Given the description of an element on the screen output the (x, y) to click on. 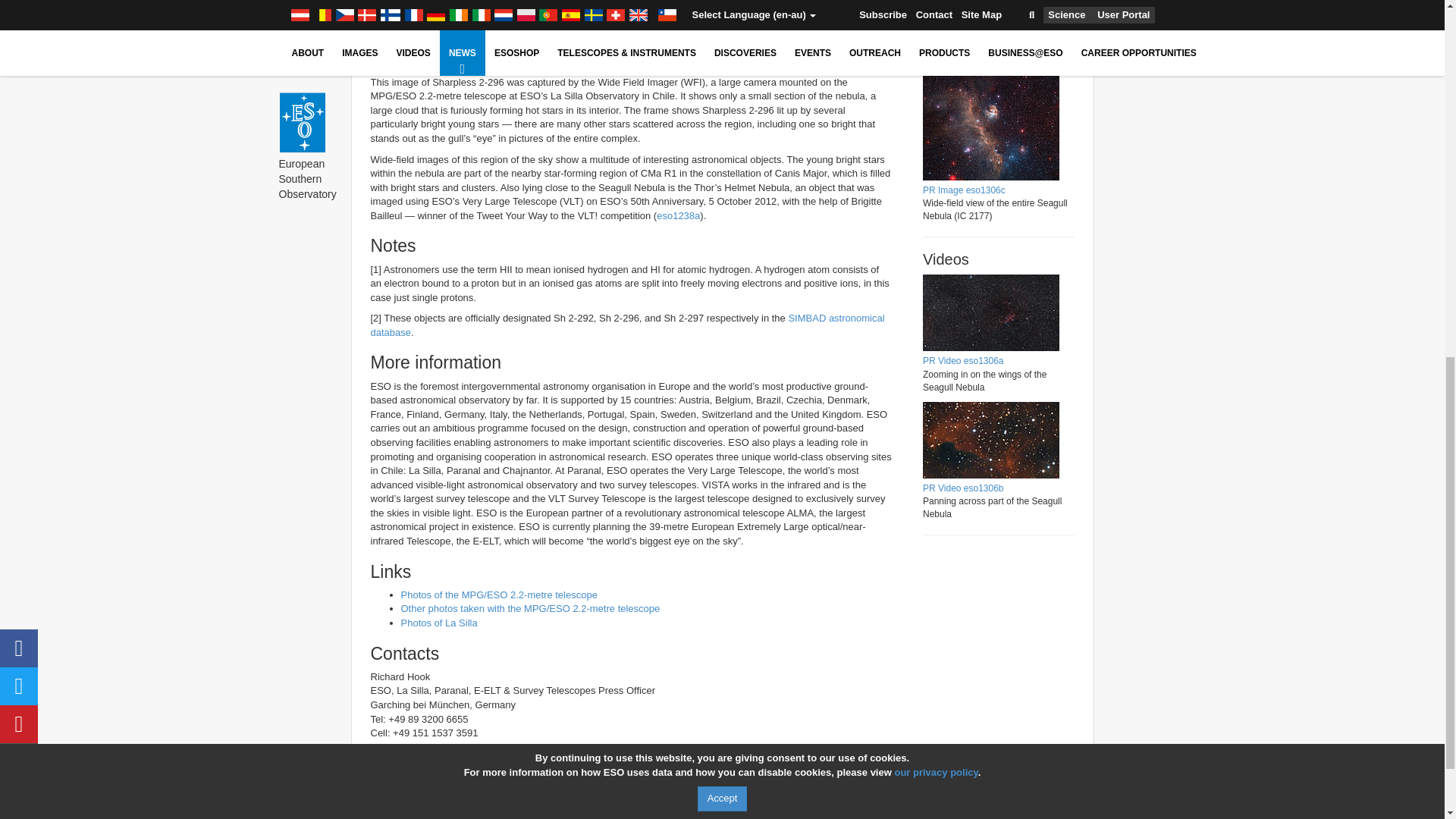
Accept (722, 110)
our privacy policy (934, 84)
